Given the description of an element on the screen output the (x, y) to click on. 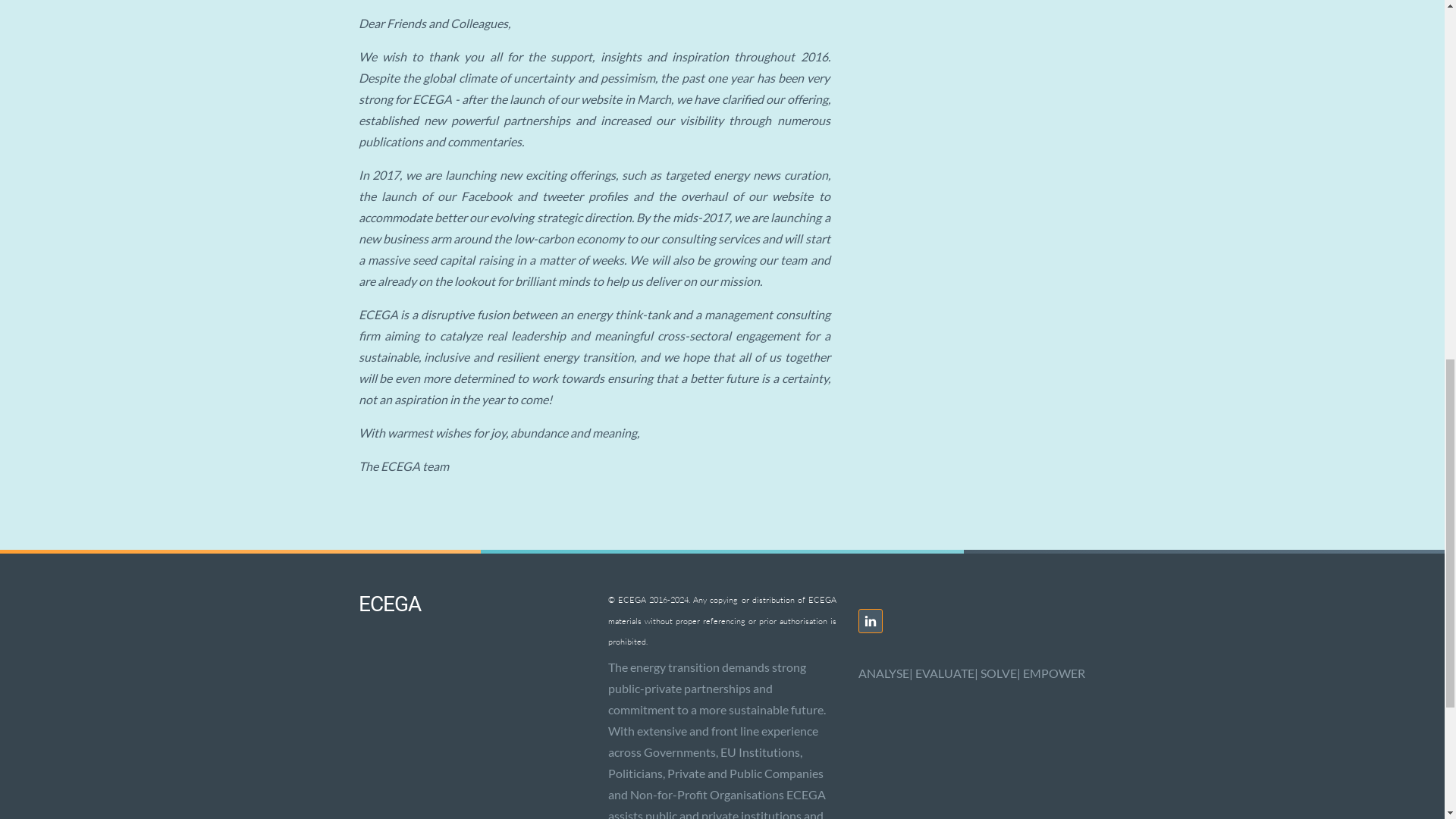
ECEGA (389, 603)
Linkedin (870, 621)
